Given the description of an element on the screen output the (x, y) to click on. 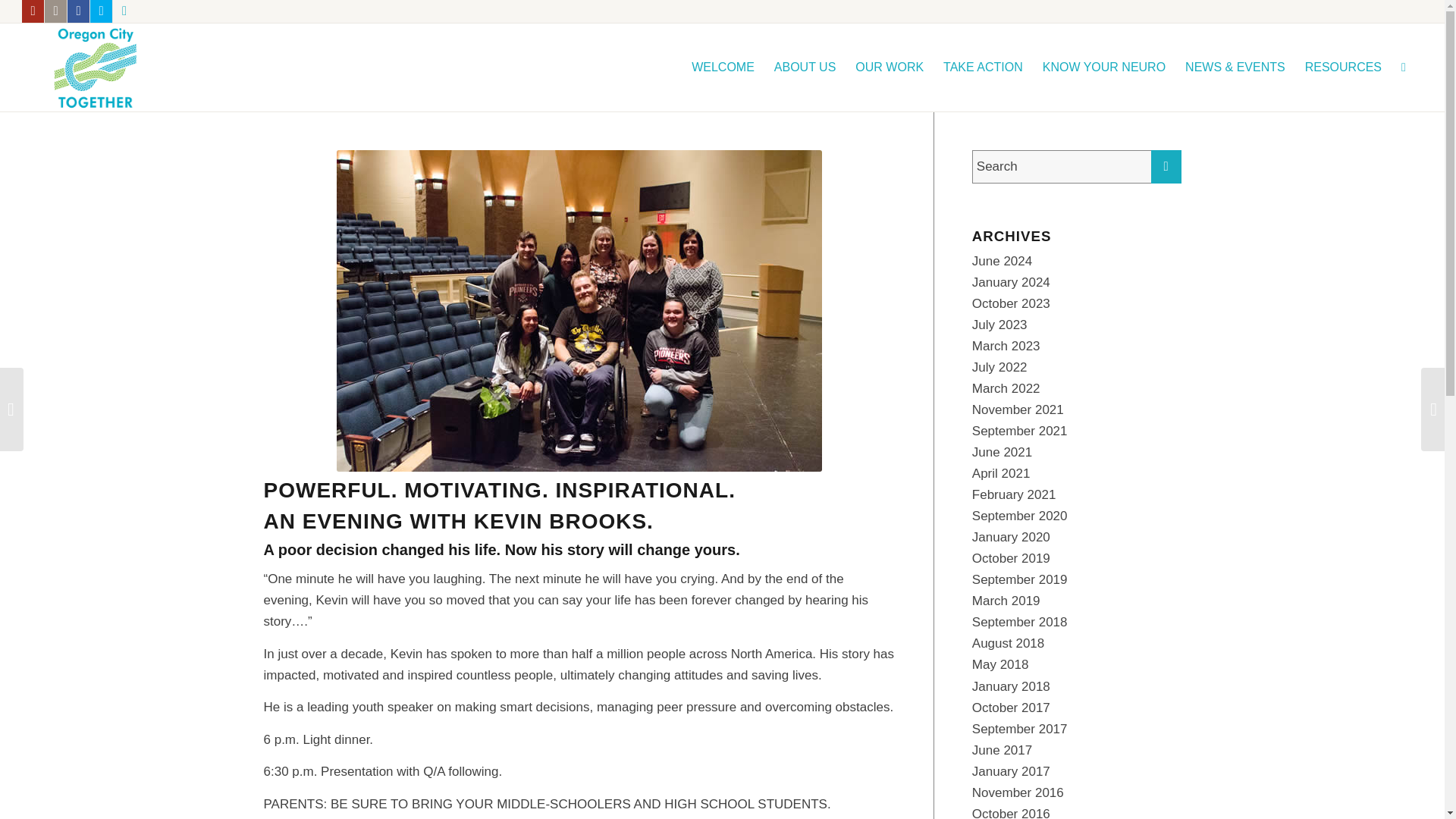
OUR WORK (889, 67)
RESOURCES (1343, 67)
KNOW YOUR NEURO (1103, 67)
Mail (124, 11)
TAKE ACTION (982, 67)
WELCOME (722, 67)
ABOUT US (804, 67)
Youtube (32, 11)
Instagram (55, 11)
Twitter (101, 11)
Facebook (77, 11)
